Given the description of an element on the screen output the (x, y) to click on. 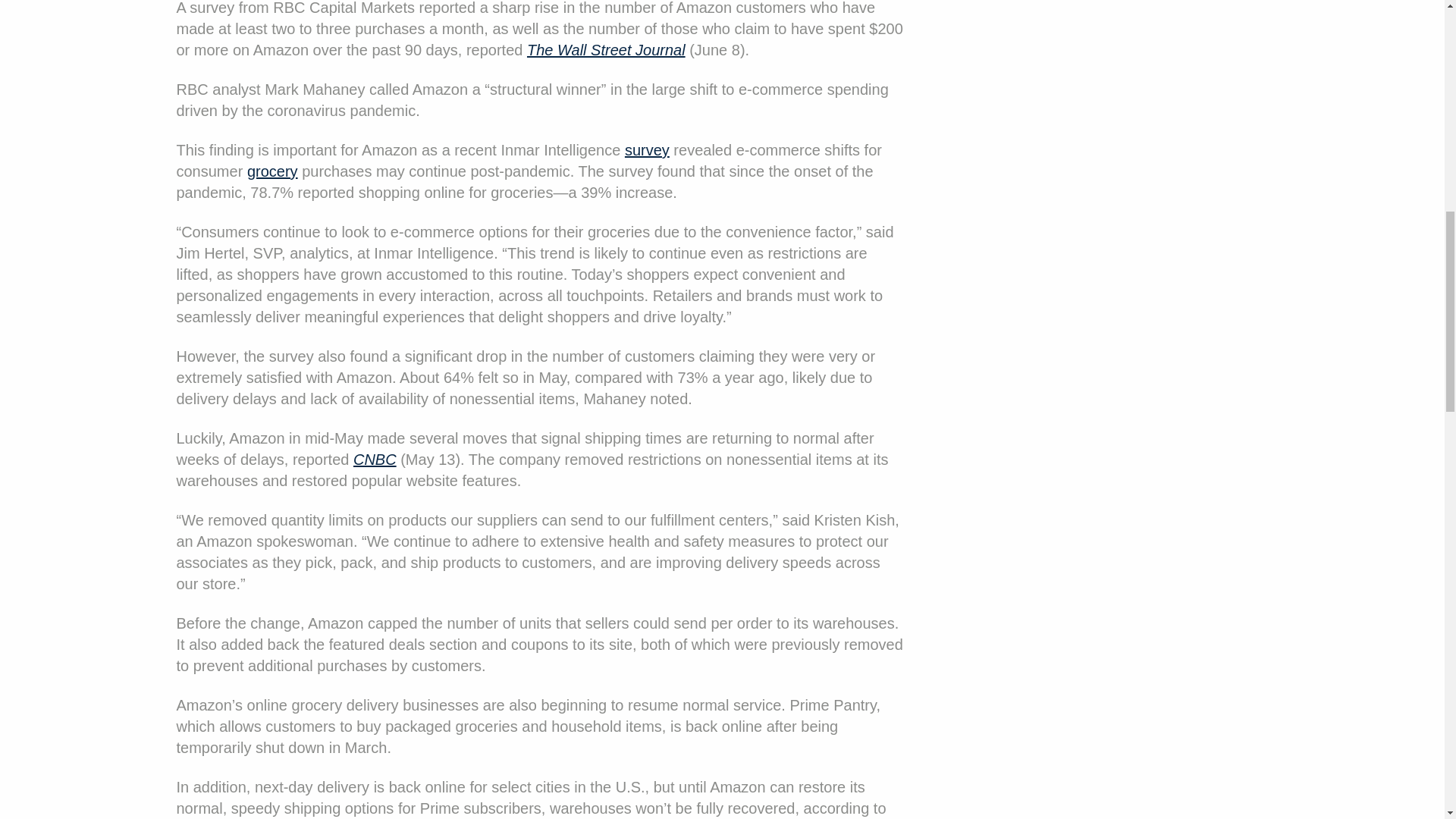
WEBINAR (43, 189)
NEWSLETTER SIGN UP (716, 265)
MY ACCOUNT (57, 227)
ECONOMIC BENCHMARKING (106, 151)
ADVISORY SERVICES (716, 341)
EARNINGS AND SALES (85, 37)
TODAY IN FOOD (64, 9)
MEMBER PROFILE (71, 75)
DATA INSIGHTS (61, 113)
SHOP (716, 379)
